Given the description of an element on the screen output the (x, y) to click on. 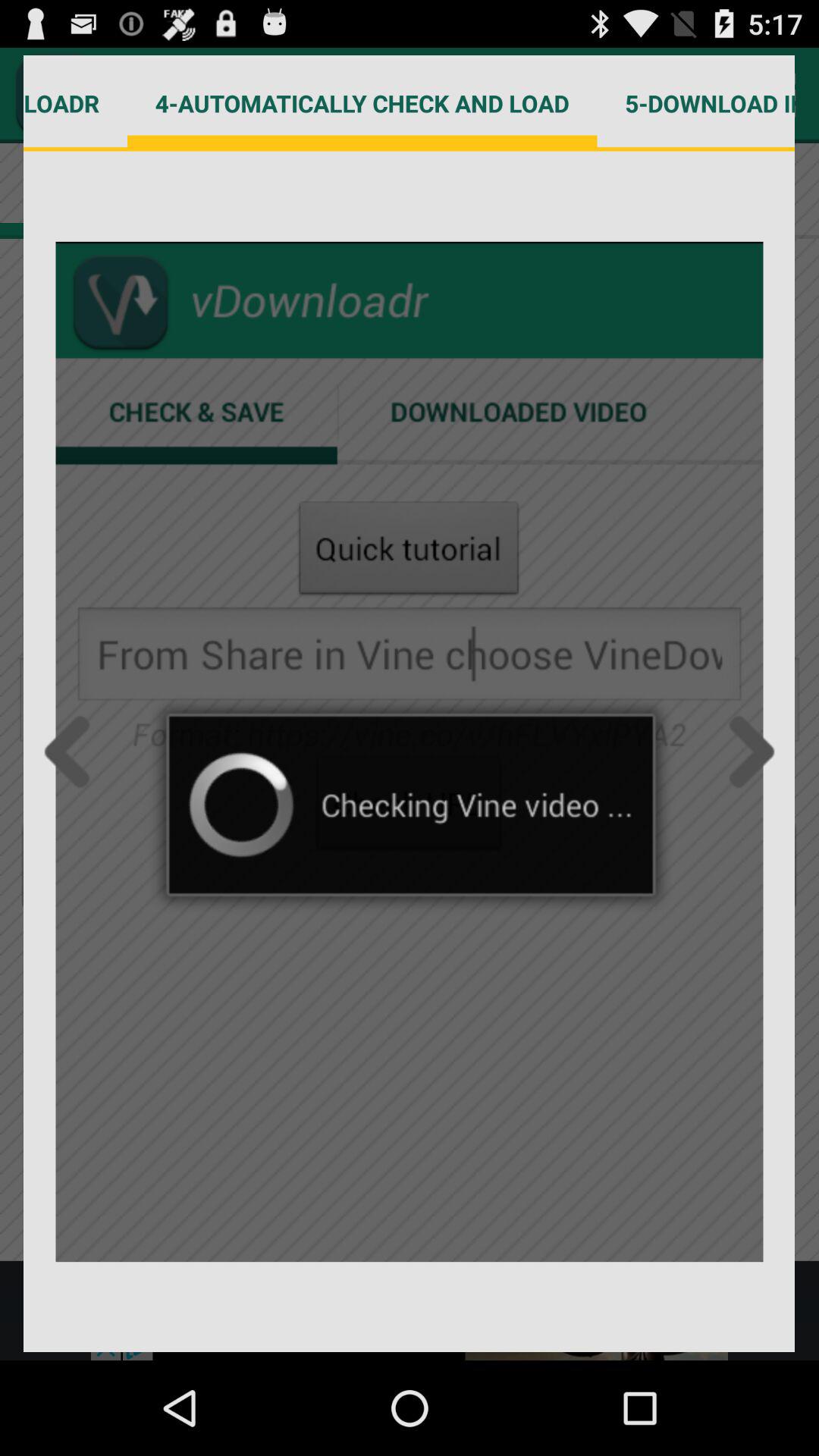
launch app next to 5 download in item (362, 103)
